Given the description of an element on the screen output the (x, y) to click on. 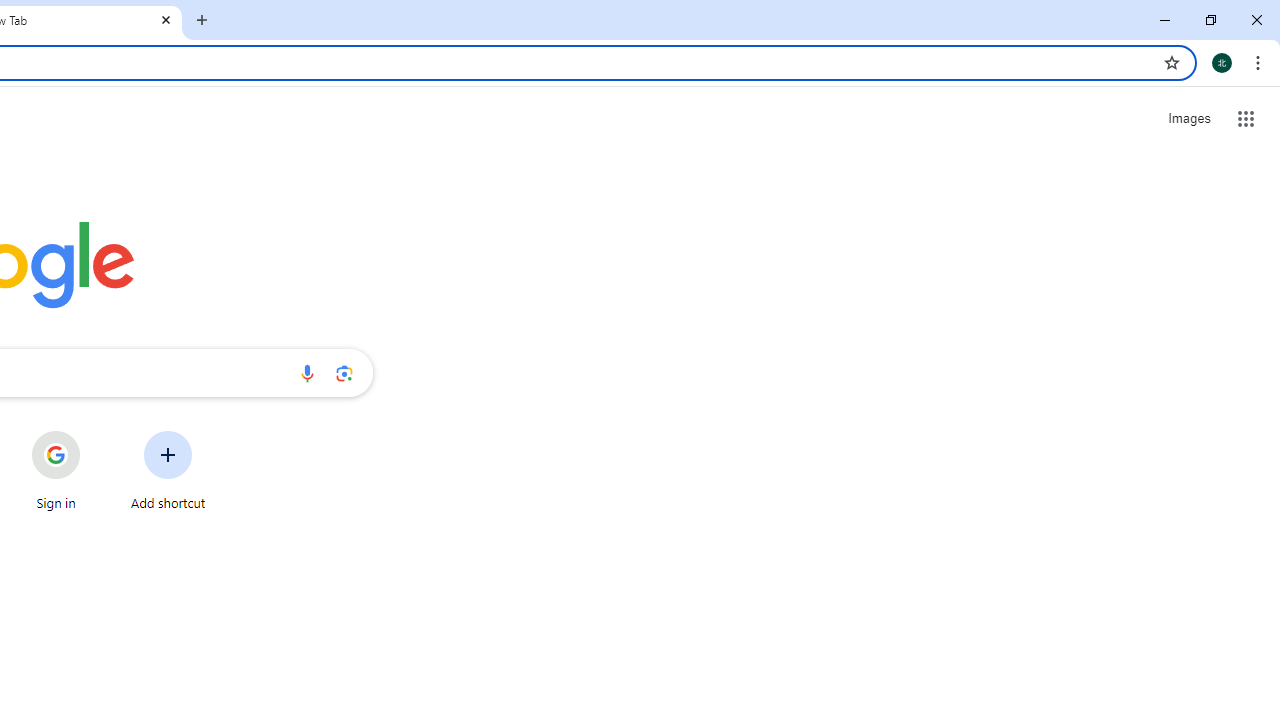
Search by voice (307, 372)
Search by image (344, 372)
More actions for Sign in shortcut (95, 433)
Search for Images  (1188, 119)
Add shortcut (168, 470)
